Given the description of an element on the screen output the (x, y) to click on. 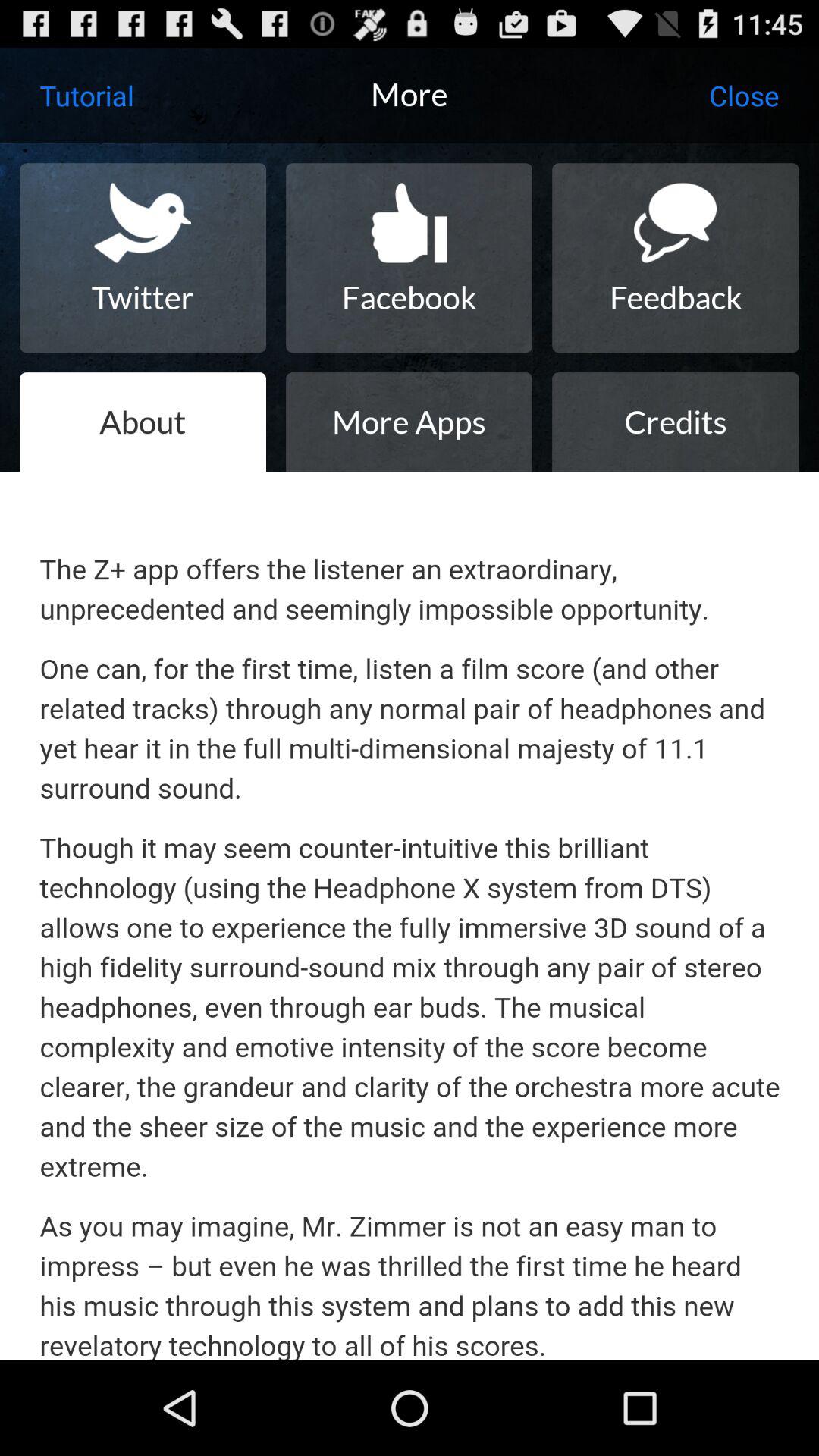
turn on item next to the more apps icon (675, 422)
